Given the description of an element on the screen output the (x, y) to click on. 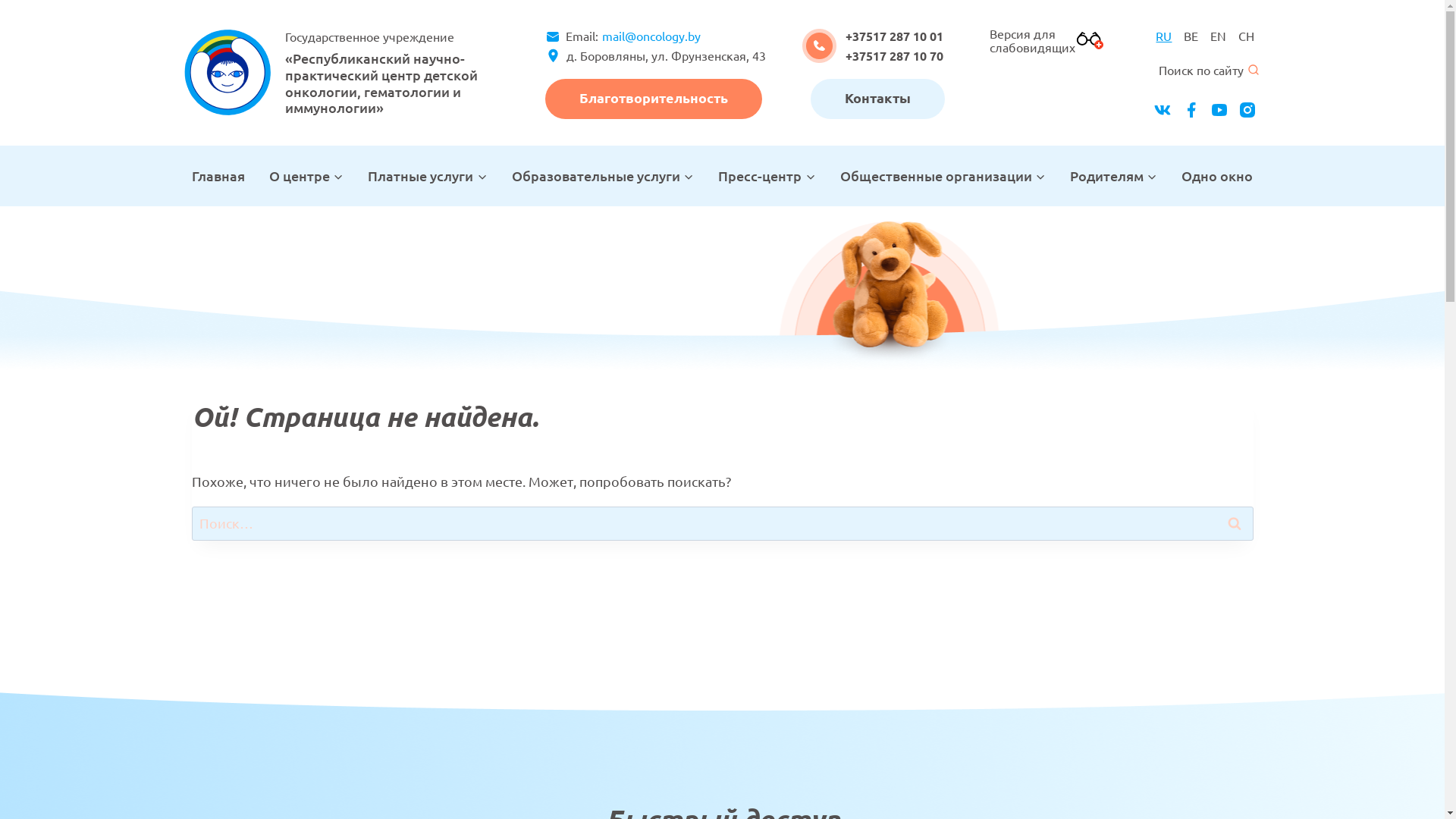
BE Element type: text (1190, 36)
EN Element type: text (1218, 36)
mail@oncology.by Element type: text (648, 36)
+37517 287 10 01 Element type: text (894, 36)
+37517 287 10 70 Element type: text (894, 55)
CH Element type: text (1246, 36)
RU Element type: text (1163, 36)
